Given the description of an element on the screen output the (x, y) to click on. 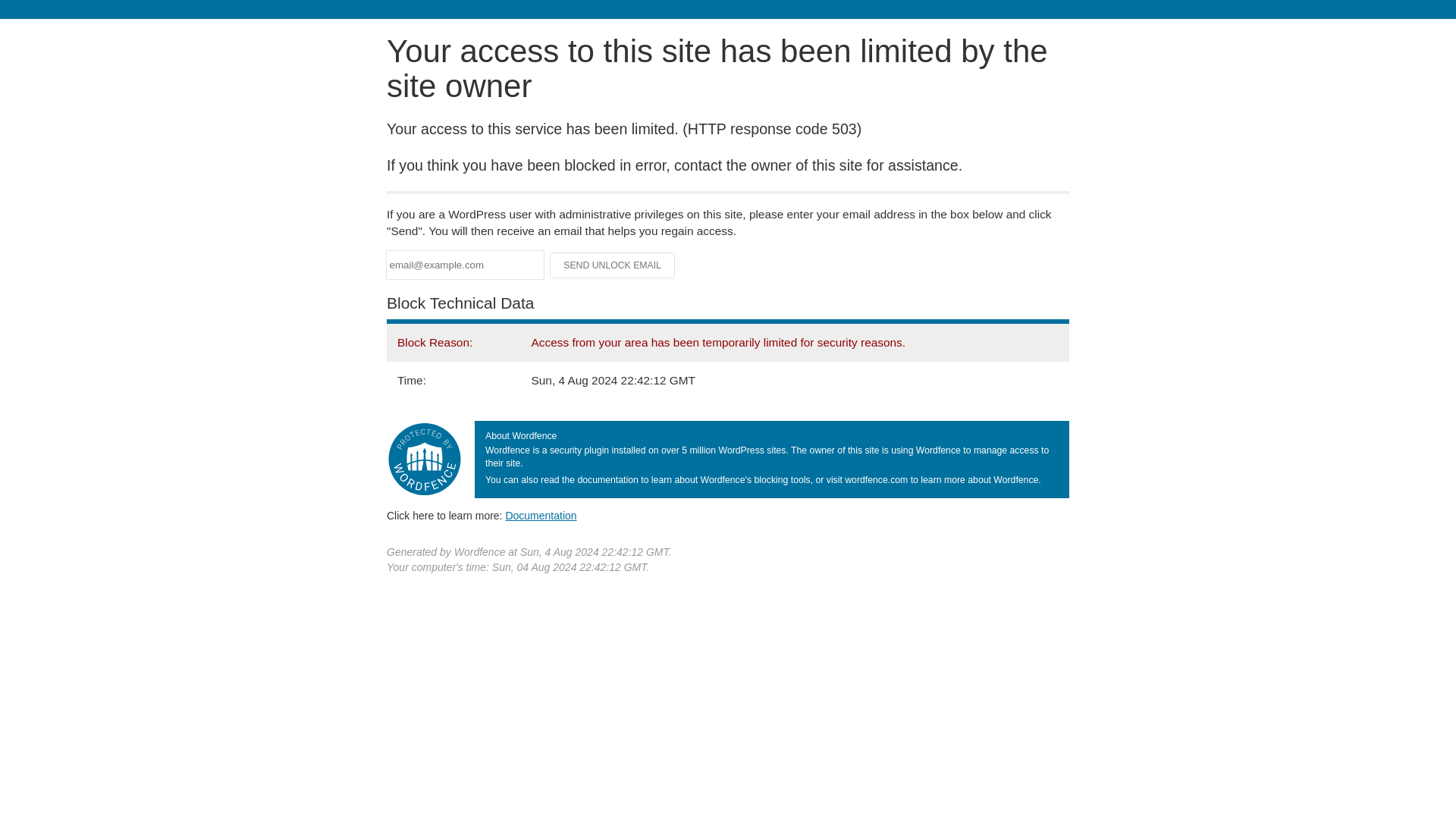
Send Unlock Email (612, 265)
Documentation (540, 515)
Send Unlock Email (612, 265)
